Given the description of an element on the screen output the (x, y) to click on. 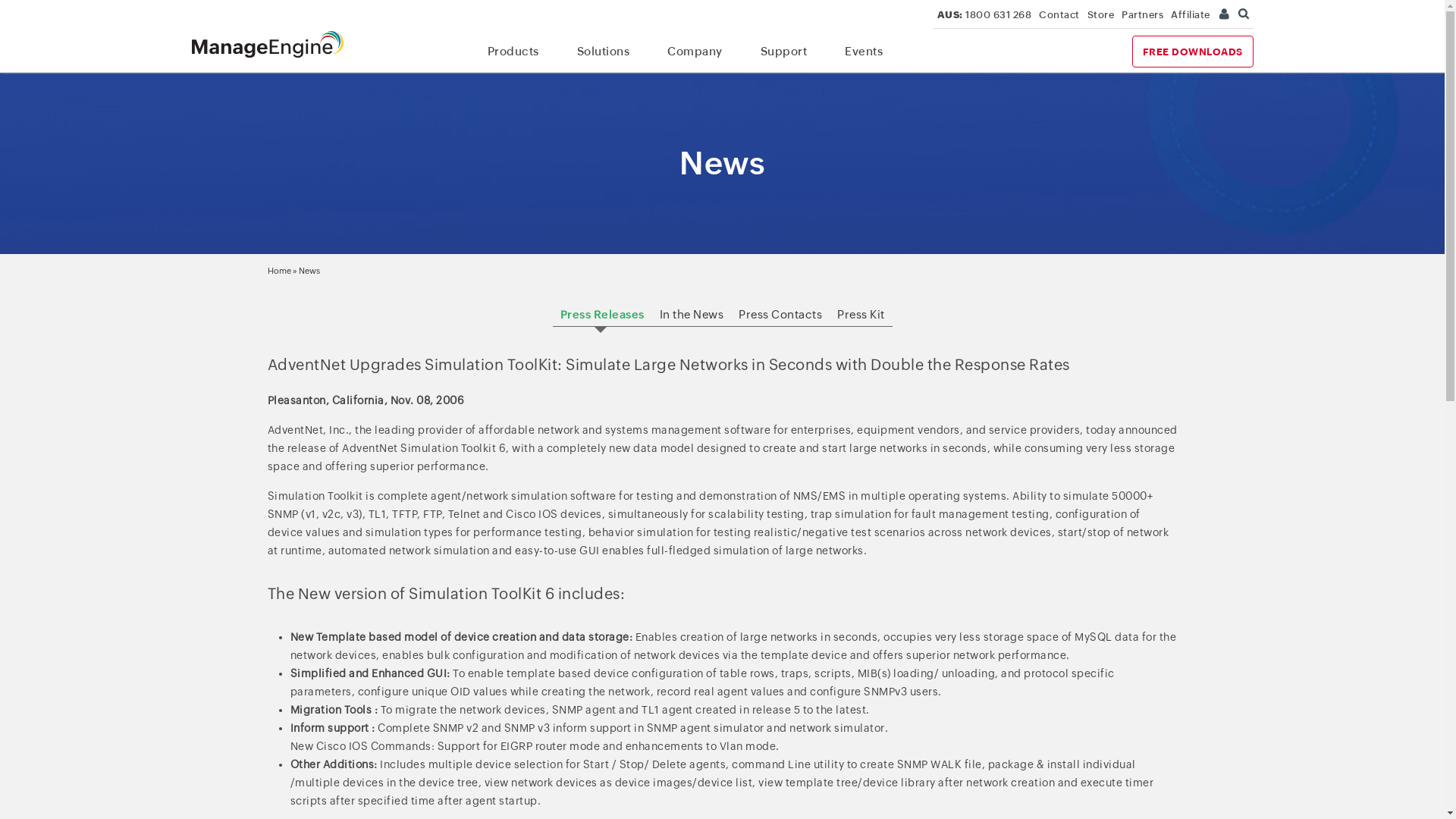
Store Element type: text (1100, 14)
Press Releases Element type: text (601, 313)
In the News Element type: text (691, 313)
Press Kit Element type: text (860, 313)
Home Element type: text (278, 269)
FREE DOWNLOADS Element type: text (1191, 51)
News Element type: text (309, 269)
Affiliate Element type: text (1190, 14)
Partners Element type: text (1142, 14)
Press Contacts Element type: text (780, 313)
ManageEngine - Enterprise IT Management Element type: hover (266, 44)
AUS: 1800 631 268 Element type: text (984, 14)
